Given the description of an element on the screen output the (x, y) to click on. 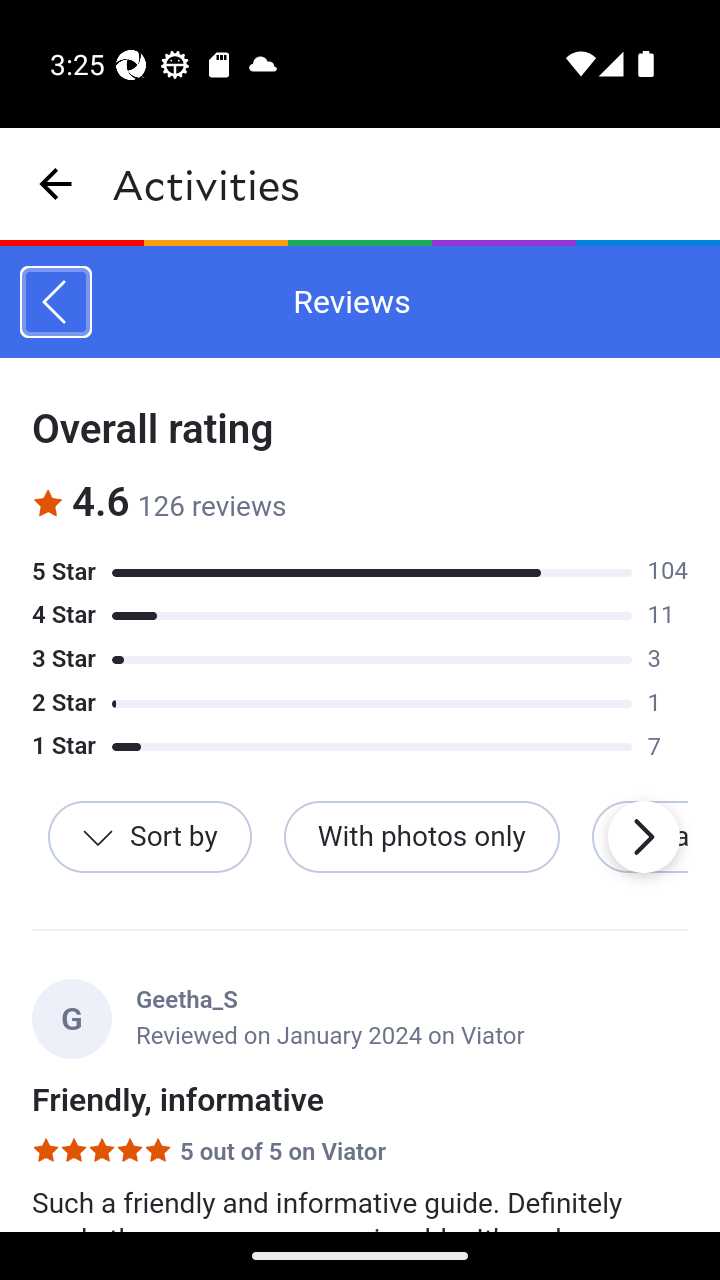
navigation_button (56, 184)
Reviews (55, 302)
Sort by (149, 838)
With photos only (421, 838)
